Given the description of an element on the screen output the (x, y) to click on. 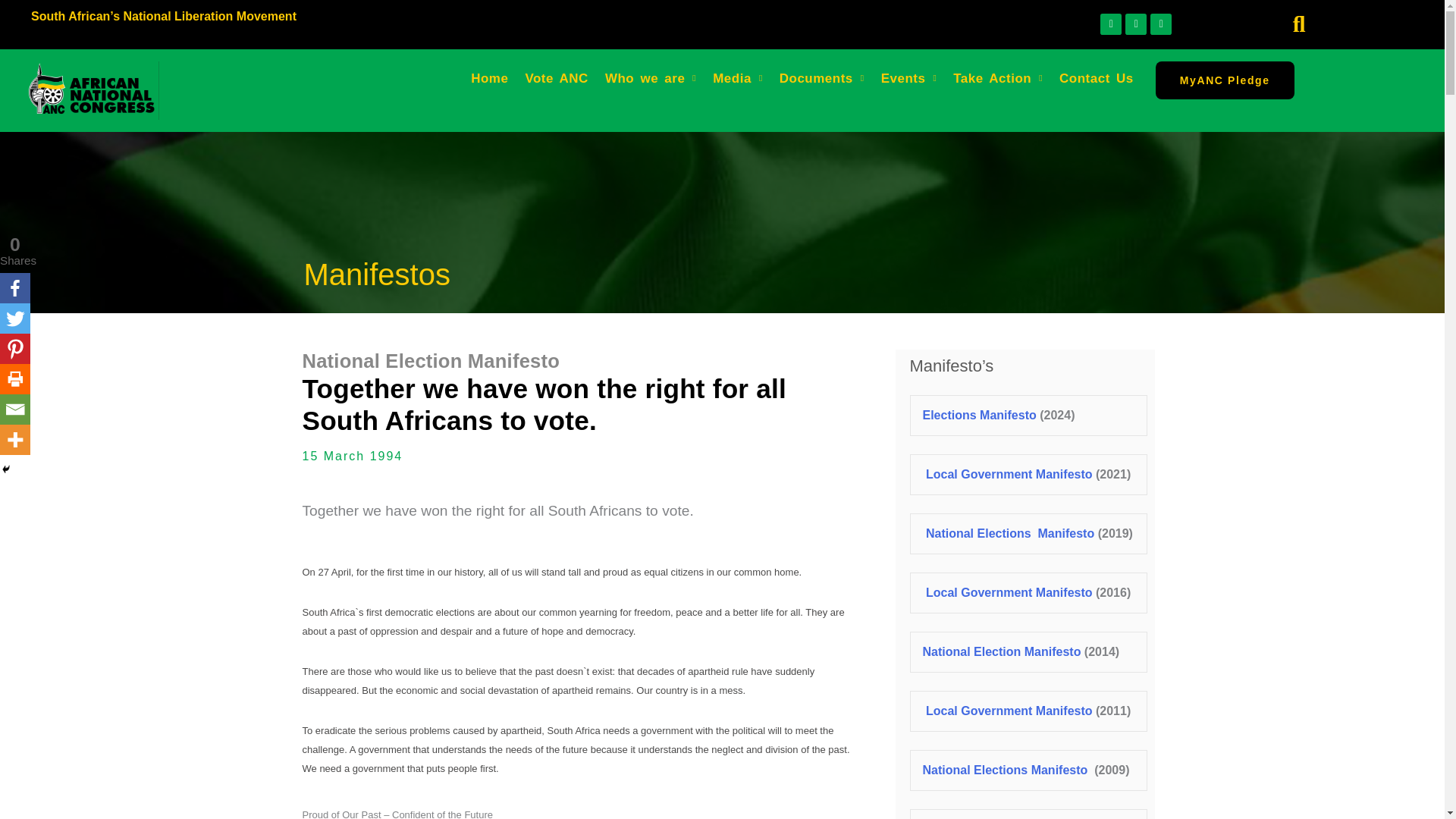
Vote ANC (556, 78)
Hide (5, 469)
Facebook (1110, 24)
cropped-ANC-Header-Logo.png (92, 90)
More (15, 440)
Home (489, 78)
Who we are (650, 78)
Facebook (15, 287)
Total Shares (15, 250)
Media (738, 78)
Email (15, 409)
Youtube (1161, 24)
Documents (821, 78)
Print (15, 378)
Twitter (15, 318)
